Given the description of an element on the screen output the (x, y) to click on. 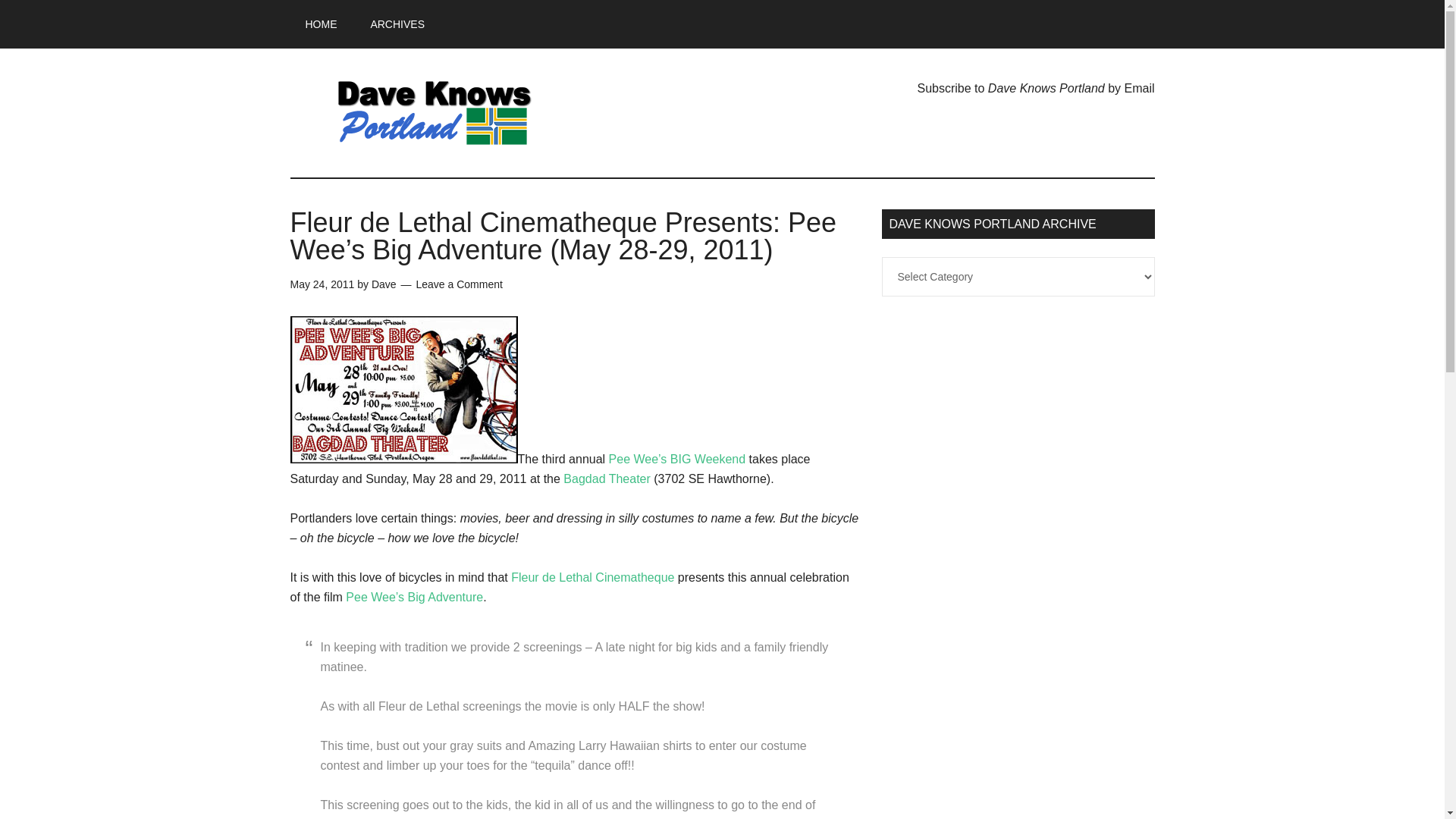
Subscribe to Dave Knows Portland by Email (1035, 88)
Dave (383, 284)
Bagdad Theater (606, 478)
Fleur de Lethal Cinematheque (592, 576)
Leave a Comment (458, 284)
Dave Knows Portland (433, 112)
ARCHIVES (397, 24)
3rd Annual Pee Wee's BIG Weekend (402, 389)
HOME (320, 24)
